Given the description of an element on the screen output the (x, y) to click on. 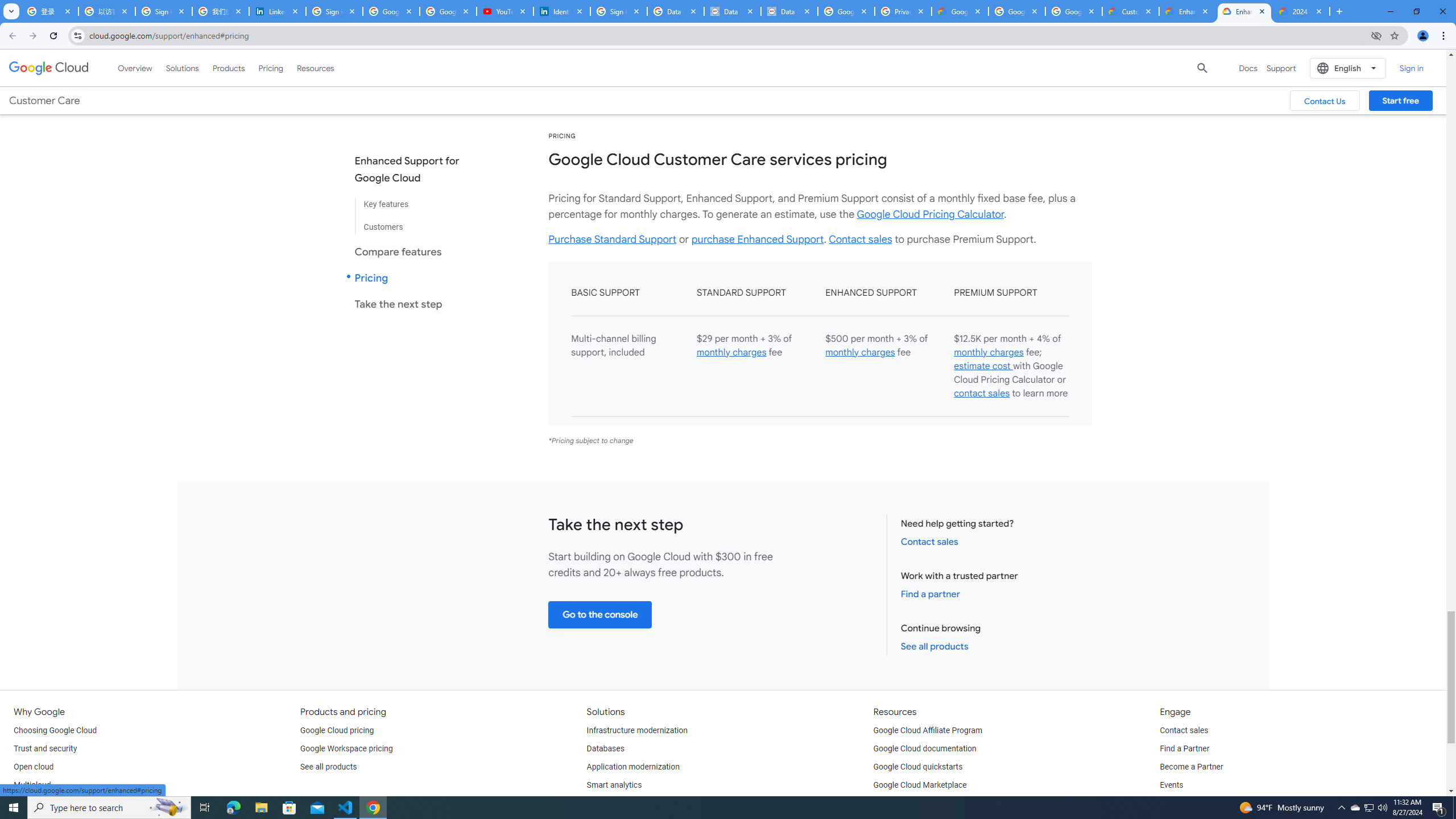
Enhanced Support | Google Cloud (1244, 11)
